Given the description of an element on the screen output the (x, y) to click on. 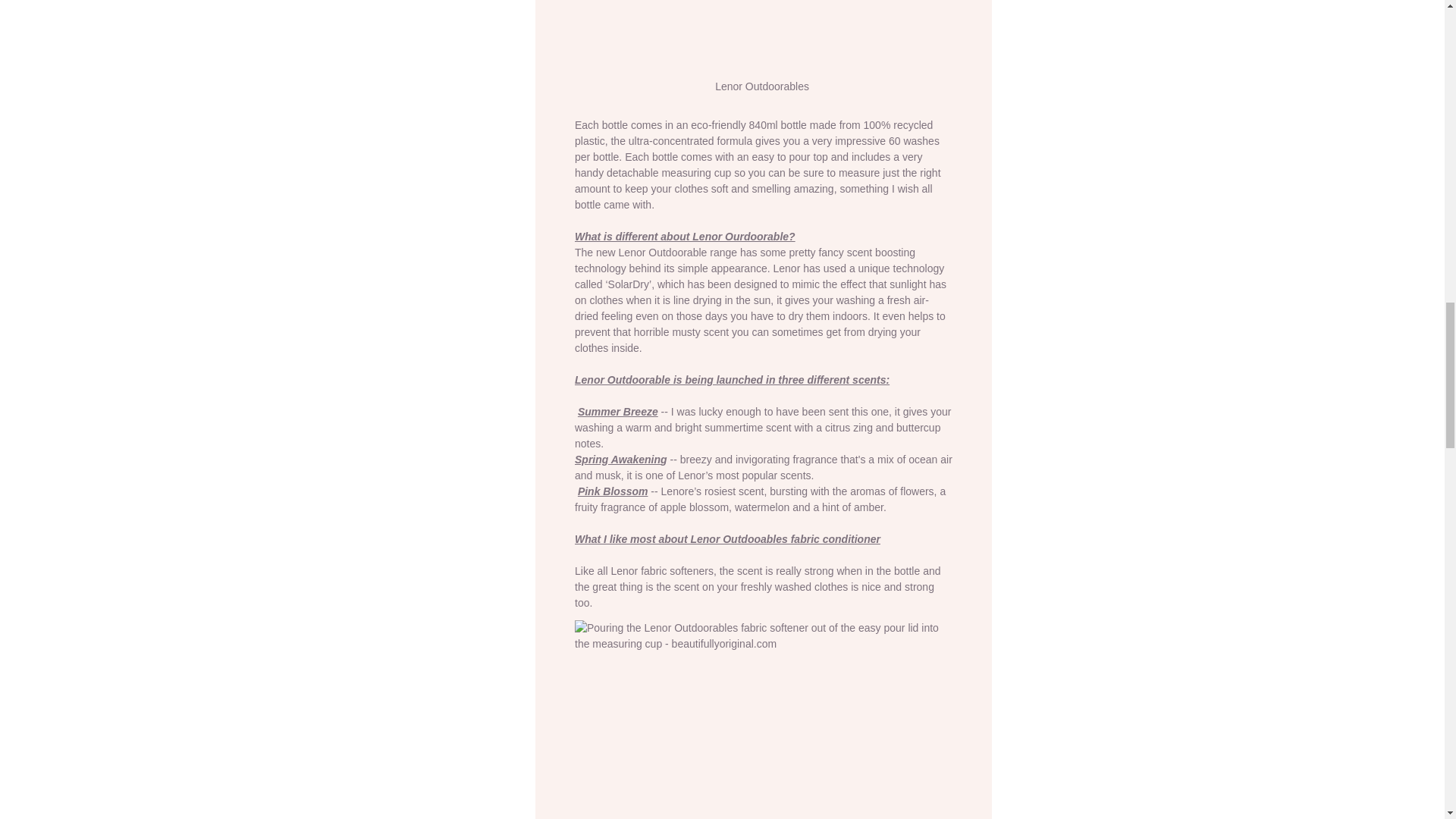
Lenor Outdoorables  (763, 54)
